Given the description of an element on the screen output the (x, y) to click on. 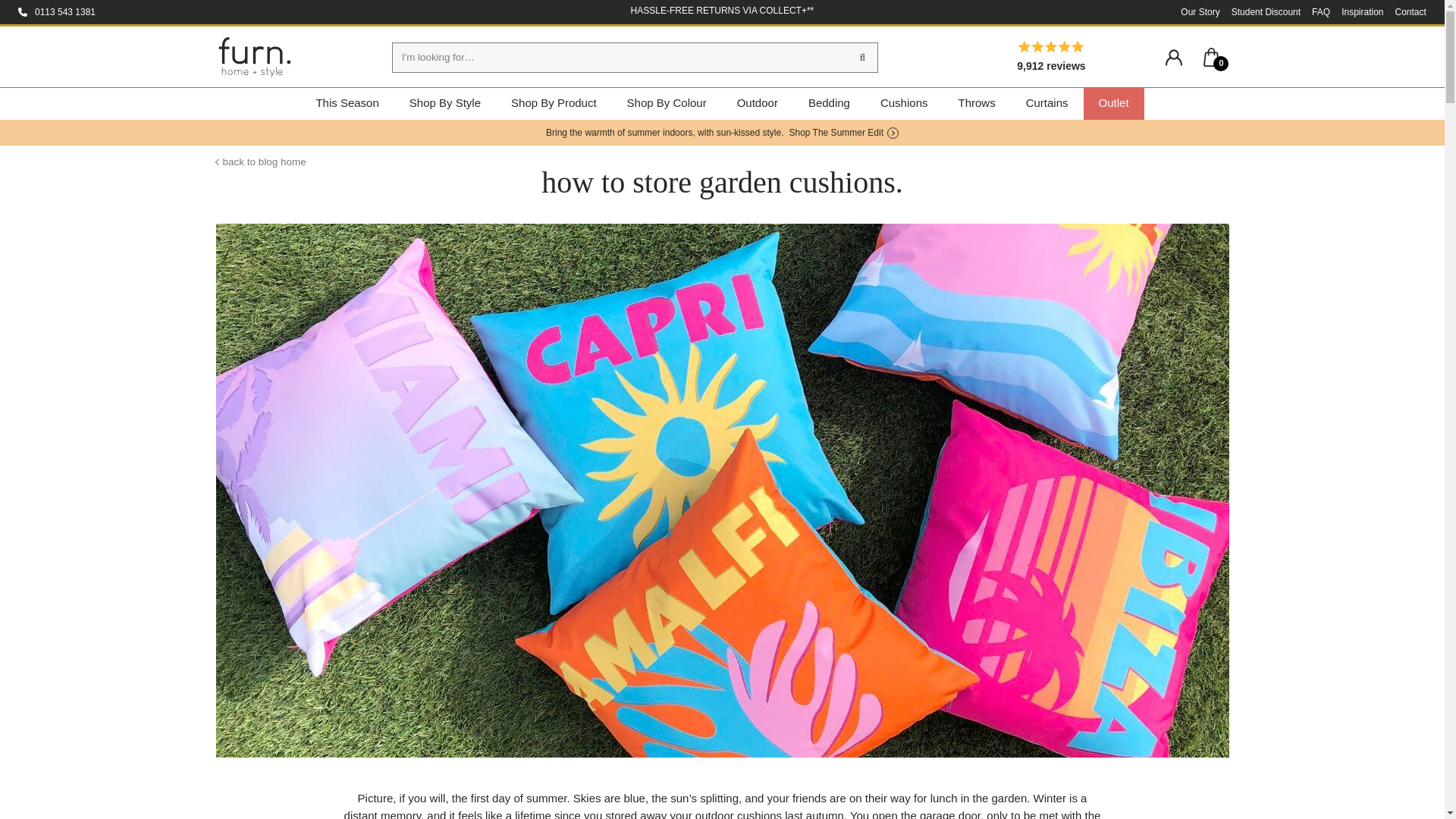
Our Story (1200, 11)
0113 543 1381 (65, 12)
Inspiration (1361, 11)
This Season (346, 103)
Contact (1410, 11)
0 (1211, 56)
Student Discount (1265, 11)
FAQ (1320, 11)
